Given the description of an element on the screen output the (x, y) to click on. 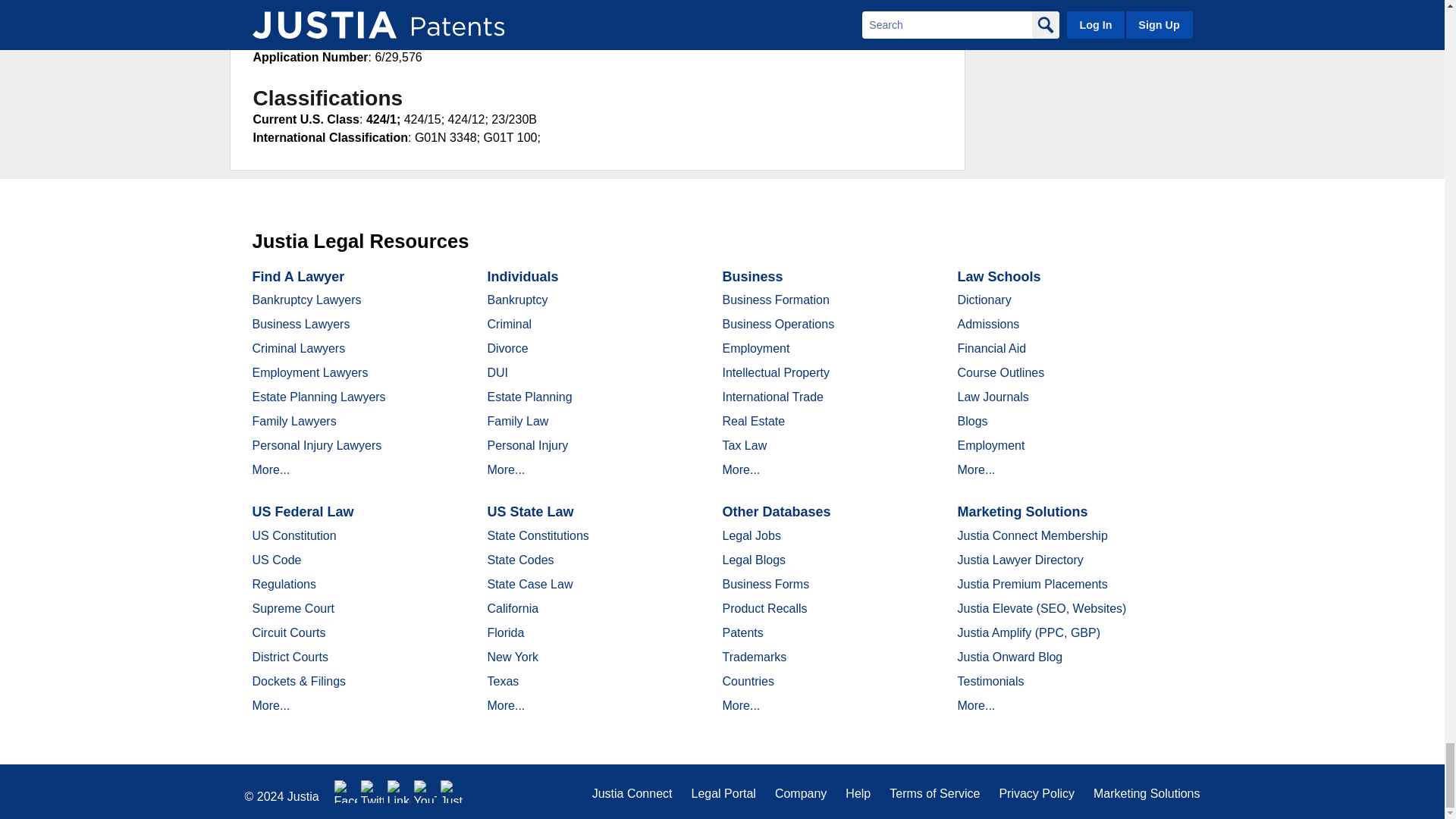
Facebook (345, 791)
LinkedIn (398, 791)
YouTube (424, 791)
Twitter (372, 791)
Justia Lawyer Directory (452, 791)
